Given the description of an element on the screen output the (x, y) to click on. 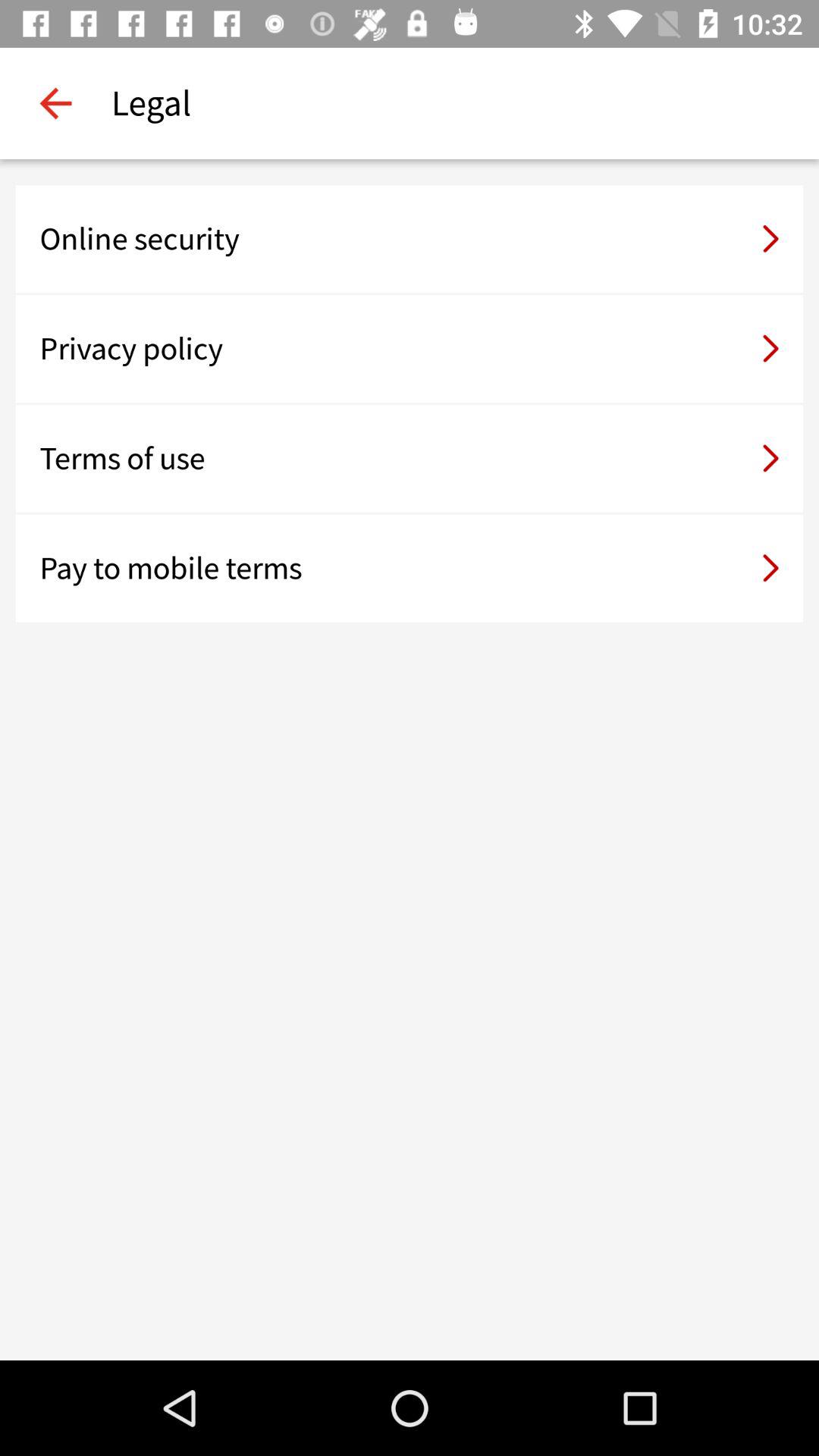
turn on the item below the privacy policy icon (409, 458)
